Given the description of an element on the screen output the (x, y) to click on. 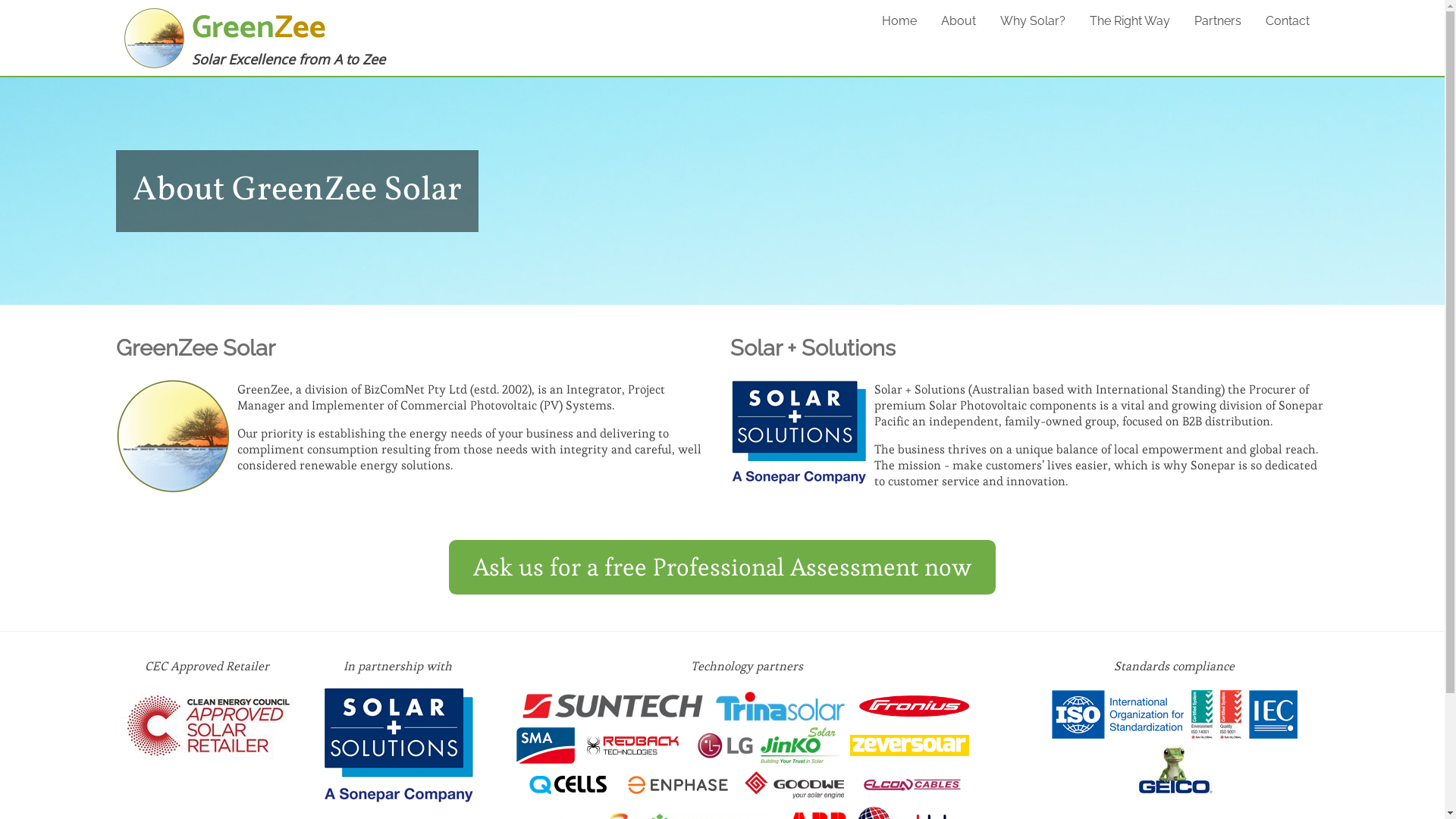
The Right Way Element type: text (1128, 20)
GreenZee Element type: text (258, 28)
Home Element type: text (898, 20)
Contact Element type: text (1286, 20)
Ask us for a free Professional Assessment now Element type: text (721, 566)
Partners Element type: text (1216, 20)
Why Solar? Element type: text (1031, 20)
About Element type: text (957, 20)
